Given the description of an element on the screen output the (x, y) to click on. 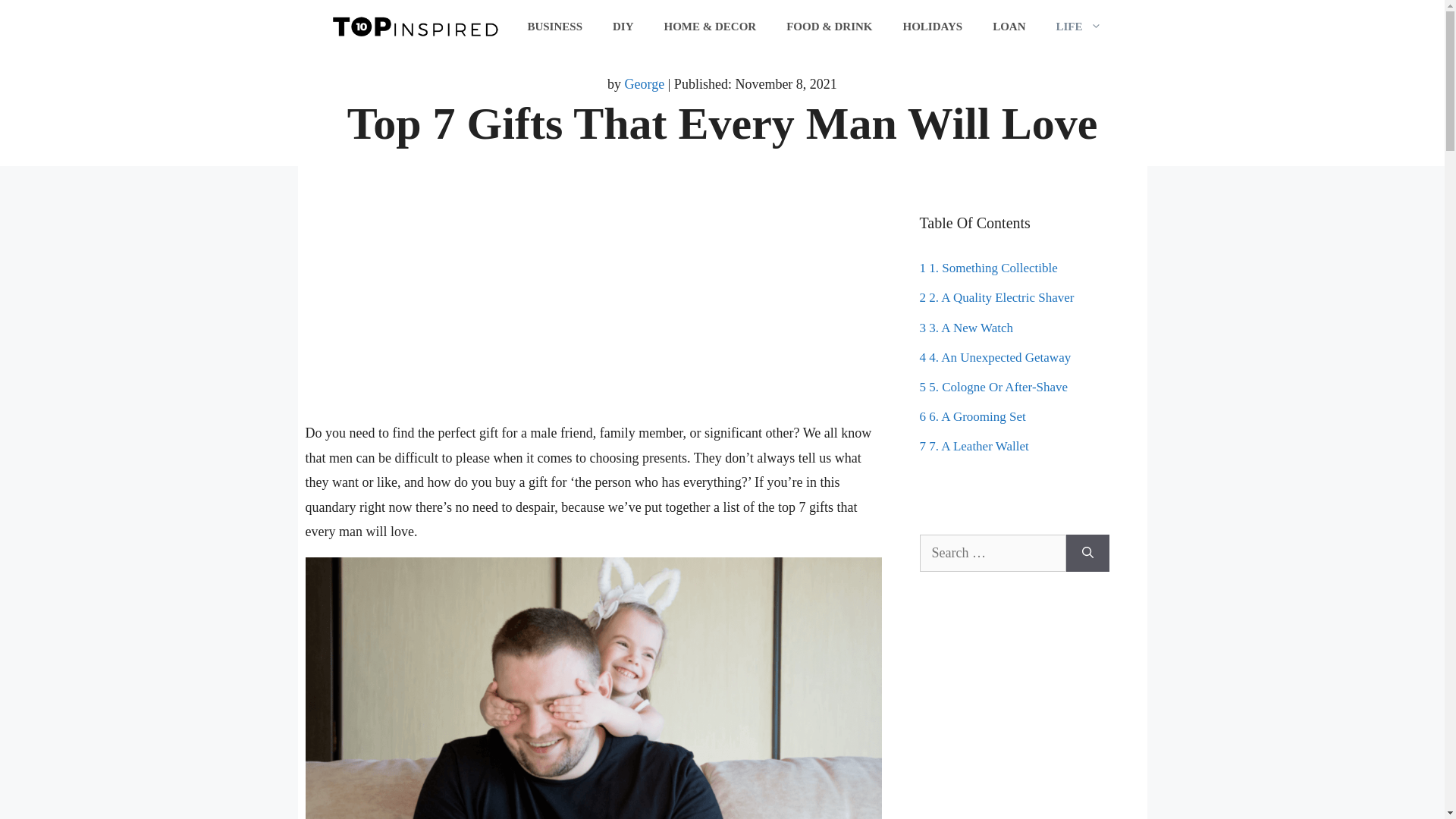
7 7. A Leather Wallet (972, 445)
Top Inspired (414, 24)
1 1. Something Collectible (987, 268)
George (644, 83)
LOAN (1008, 26)
2 2. A Quality Electric Shaver (996, 297)
4 4. An Unexpected Getaway (994, 357)
LIFE (1078, 26)
Advertisement (592, 314)
